Given the description of an element on the screen output the (x, y) to click on. 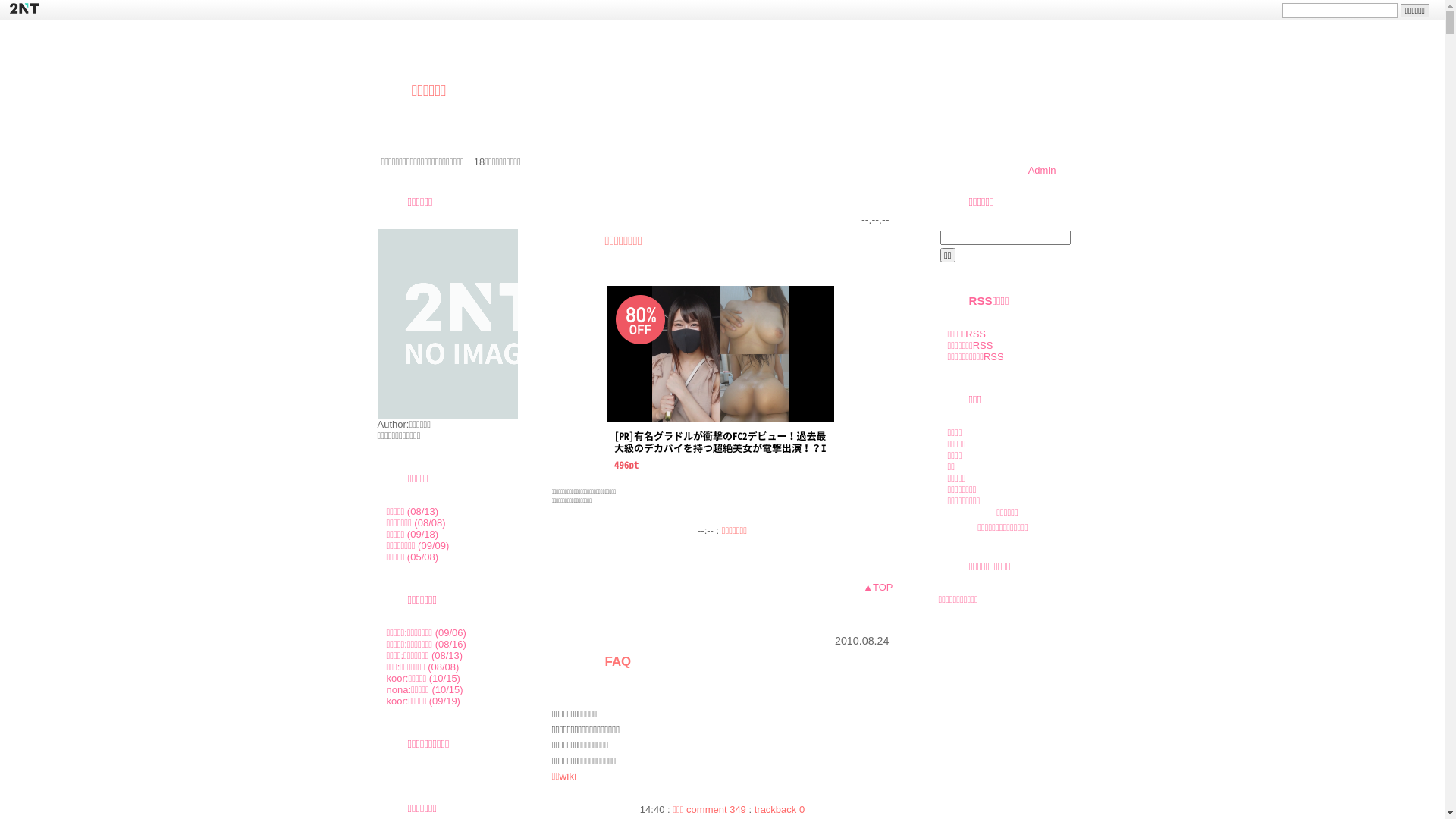
Admin Element type: text (1042, 169)
trackback 0 Element type: text (779, 809)
comment 349 Element type: text (716, 809)
